Given the description of an element on the screen output the (x, y) to click on. 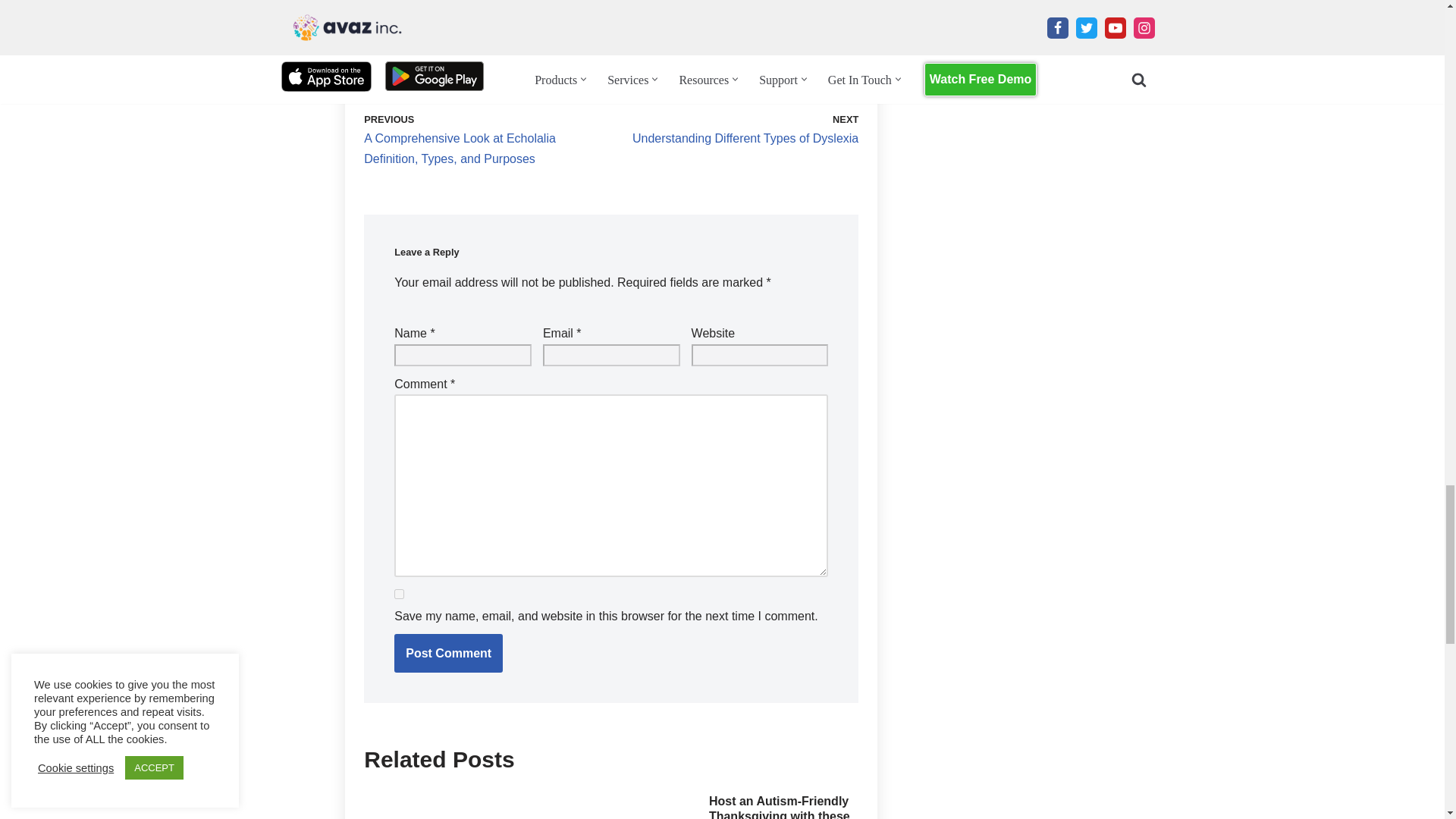
Post Comment (448, 653)
yes (399, 593)
Thanksgiving (442, 46)
